Given the description of an element on the screen output the (x, y) to click on. 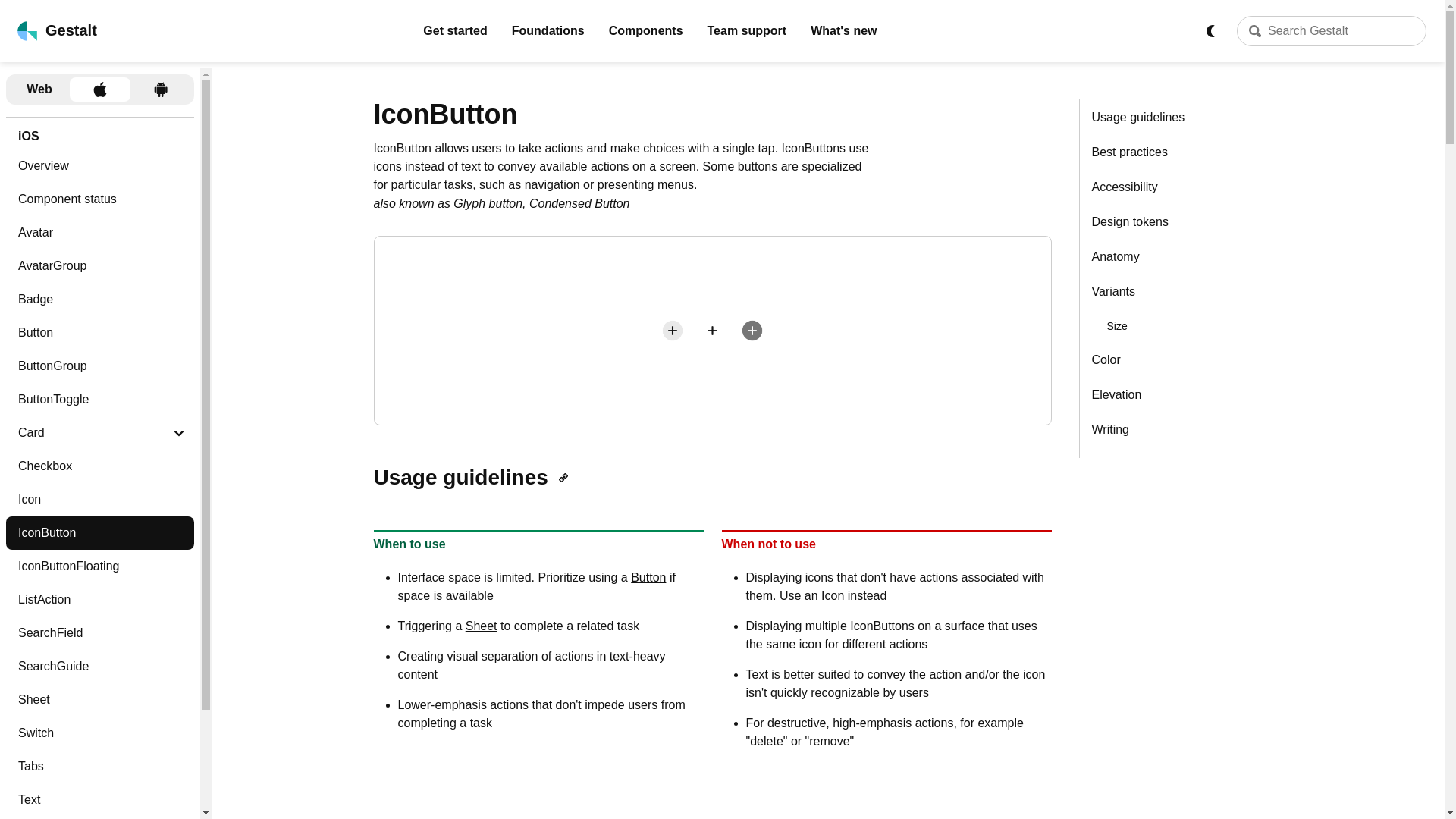
Button (99, 332)
What's new (843, 31)
IconButtonFloating (99, 566)
ButtonToggle (99, 399)
Web (38, 88)
ButtonGroup (99, 366)
Text (99, 799)
Icon (99, 499)
Switch (99, 733)
Sheet (99, 699)
Button (647, 576)
SearchField (99, 633)
Checkbox (99, 466)
Badge (99, 299)
TextArea (99, 817)
